Given the description of an element on the screen output the (x, y) to click on. 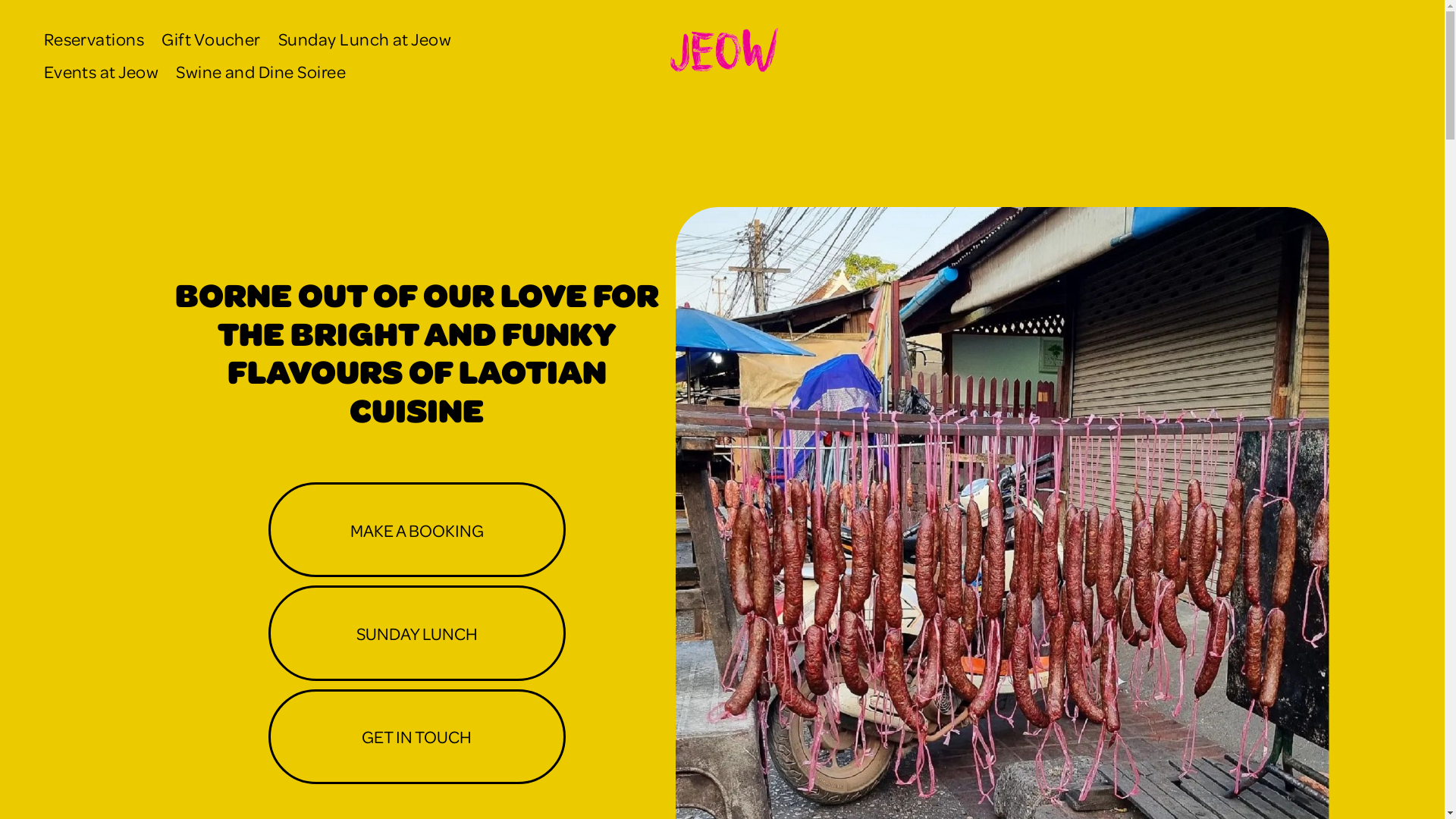
MAKE A BOOKING Element type: text (416, 529)
GET IN TOUCH Element type: text (416, 736)
Swine and Dine Soiree Element type: text (260, 71)
SUNDAY LUNCH Element type: text (416, 632)
Sunday Lunch at Jeow Element type: text (364, 39)
Reservations Element type: text (93, 39)
Events at Jeow Element type: text (101, 71)
Gift Voucher Element type: text (210, 39)
